Given the description of an element on the screen output the (x, y) to click on. 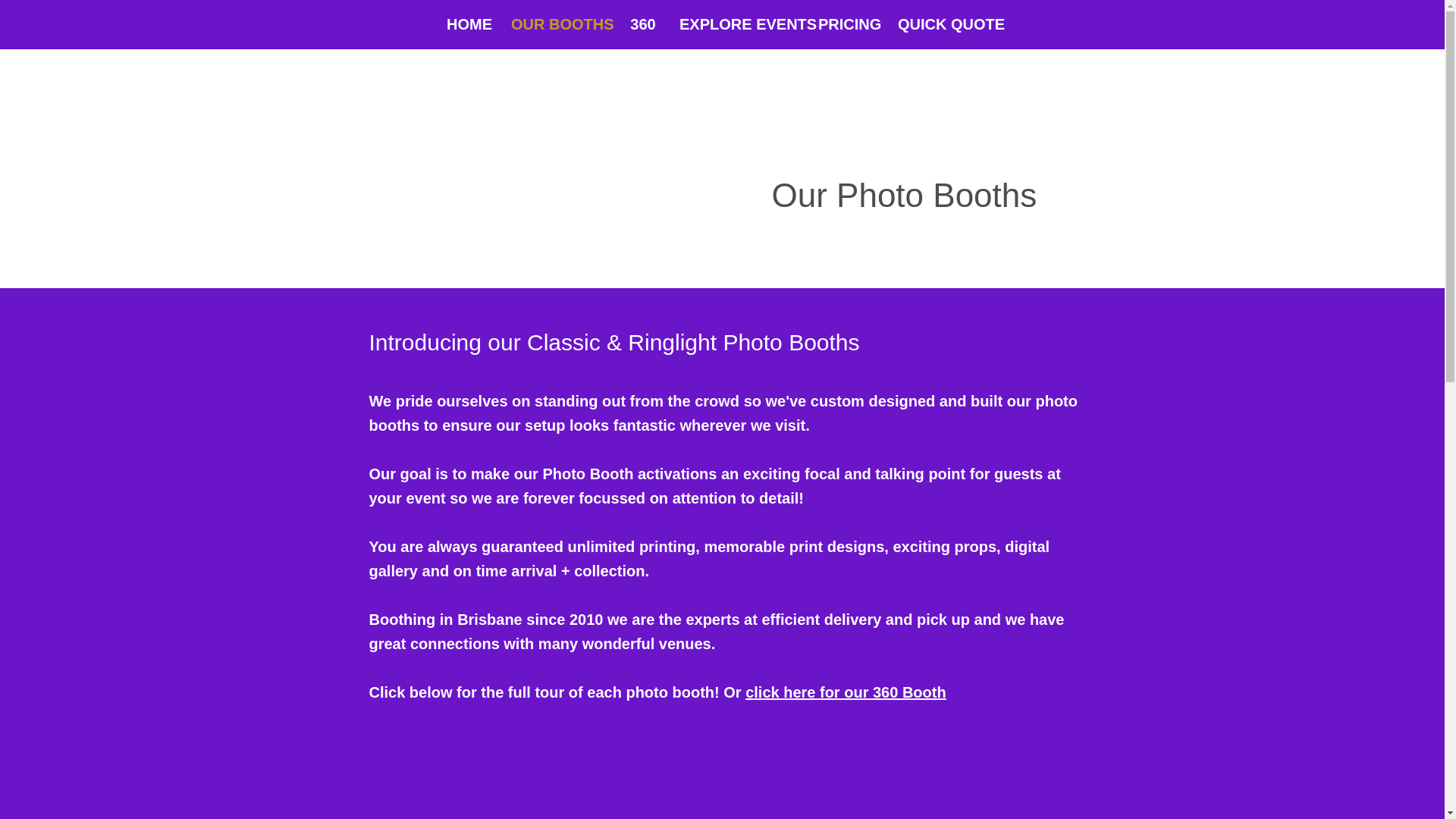
OUR BOOTHS (558, 24)
QUICK QUOTE (947, 24)
HOME (467, 24)
click here for our 360 Booth (845, 692)
Our Photo Booths (903, 194)
360 (642, 24)
EXPLORE EVENTS (737, 24)
PRICING (846, 24)
